Given the description of an element on the screen output the (x, y) to click on. 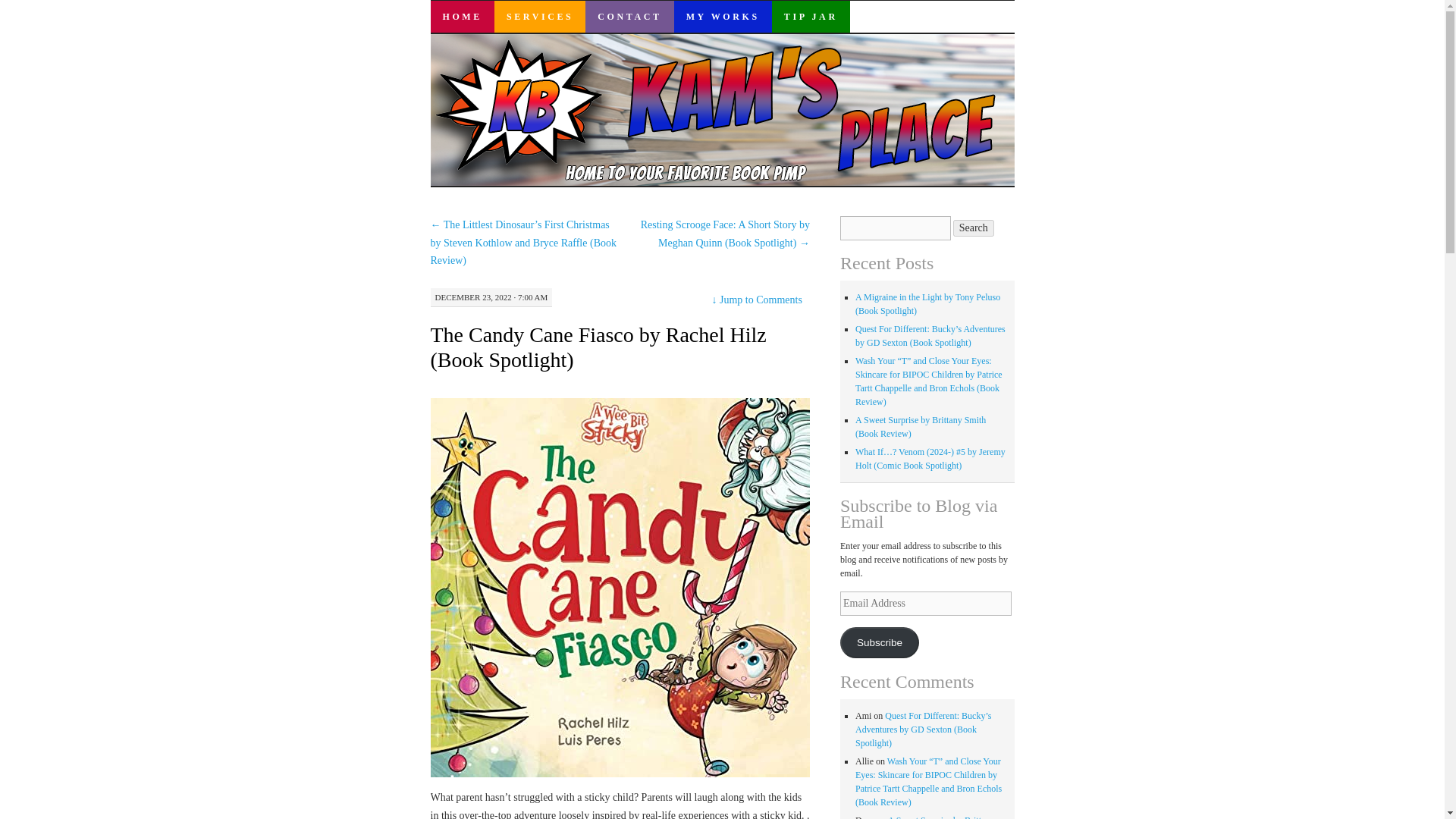
MY WORKS (722, 16)
HOME (462, 16)
Search (973, 228)
SERVICES (540, 16)
TIP JAR (810, 16)
CONTACT (628, 16)
